Given the description of an element on the screen output the (x, y) to click on. 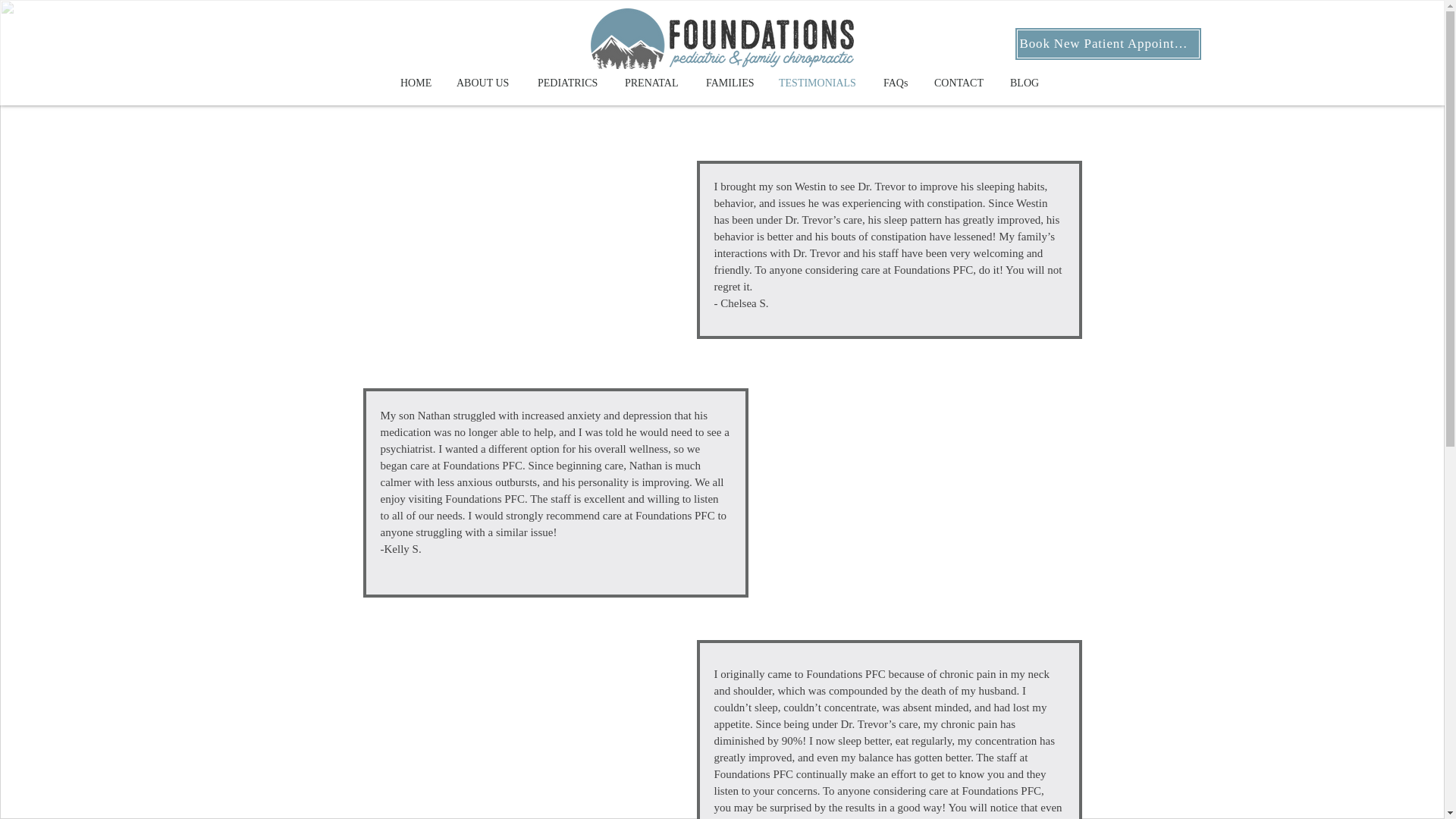
FAMILIES (730, 82)
ABOUT US (485, 82)
HOME (416, 82)
TESTIMONIALS (819, 82)
FAQs (897, 82)
Book New Patient Appointment (1108, 43)
PEDIATRICS (568, 82)
CONTACT (960, 82)
BLOG (1025, 82)
PRENATAL (653, 82)
